Given the description of an element on the screen output the (x, y) to click on. 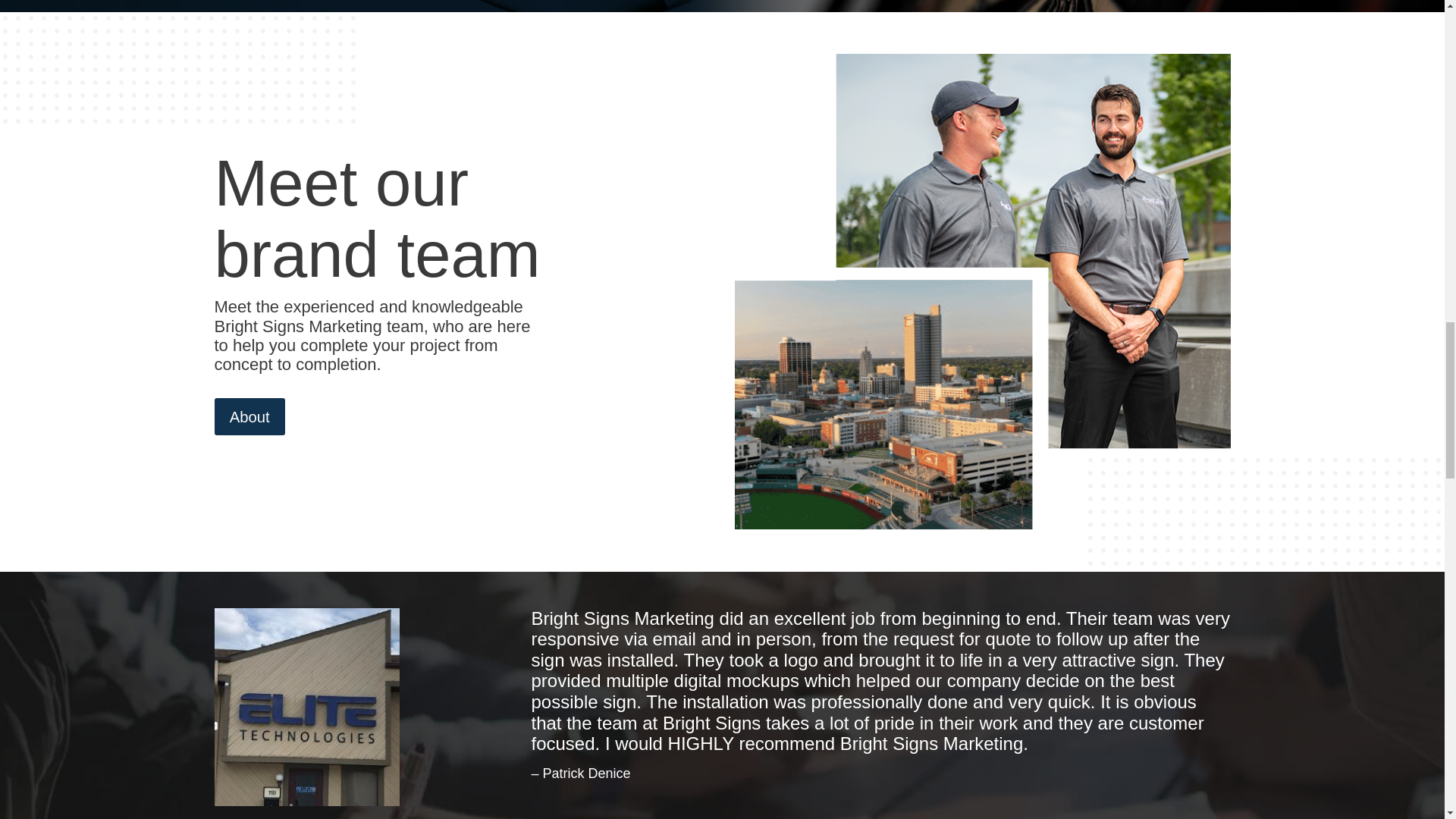
About (248, 416)
